Given the description of an element on the screen output the (x, y) to click on. 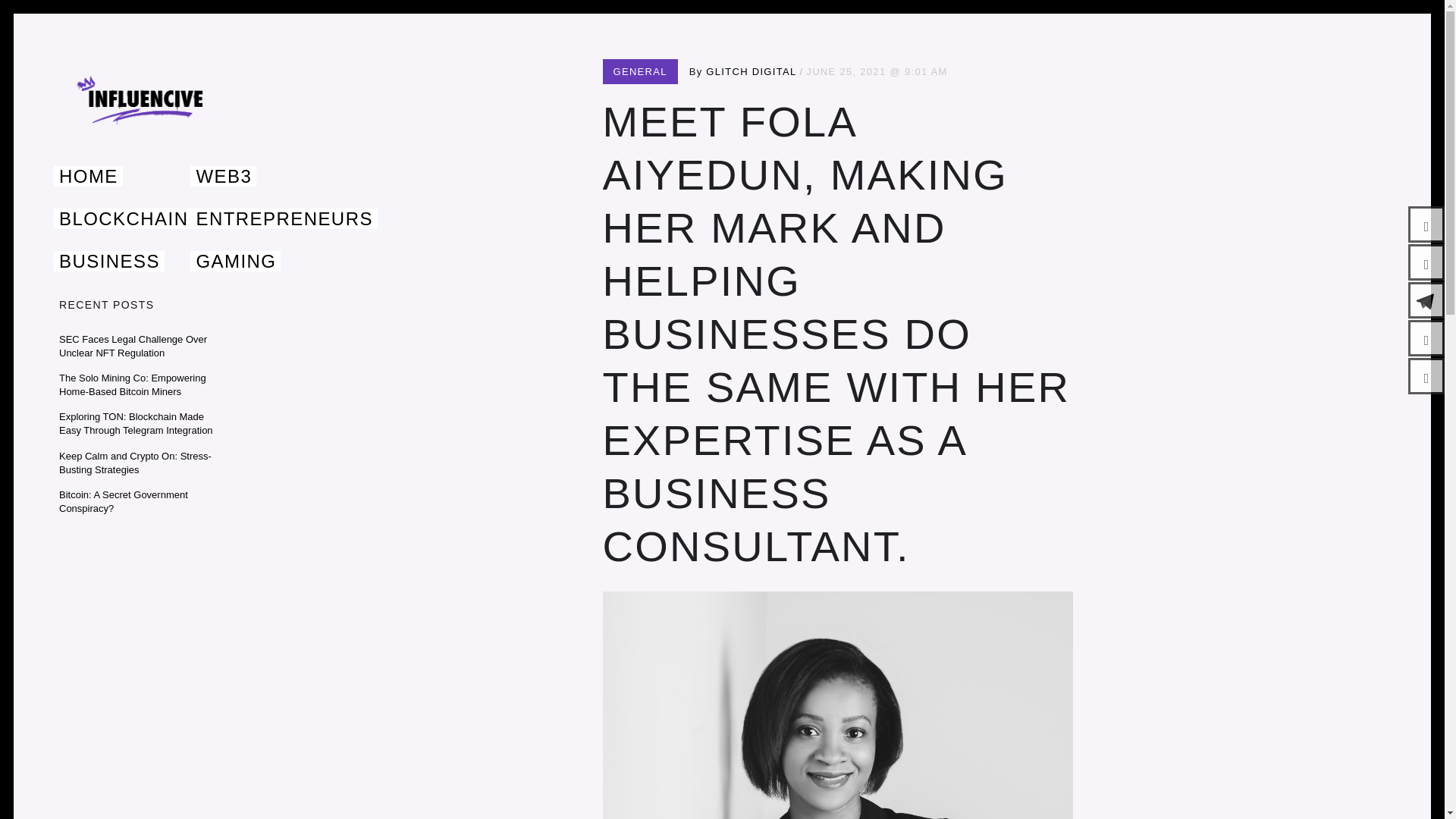
Bitcoin: A Secret Government Conspiracy? (123, 501)
ENTREPRENEURS (283, 218)
GAMING (235, 260)
BUSINESS (108, 260)
BLOCKCHAIN (122, 218)
The Solo Mining Co: Empowering Home-Based Bitcoin Miners (132, 384)
INFLUENCIVE (155, 161)
SEC Faces Legal Challenge Over Unclear NFT Regulation (132, 345)
WEB3 (223, 176)
